Given the description of an element on the screen output the (x, y) to click on. 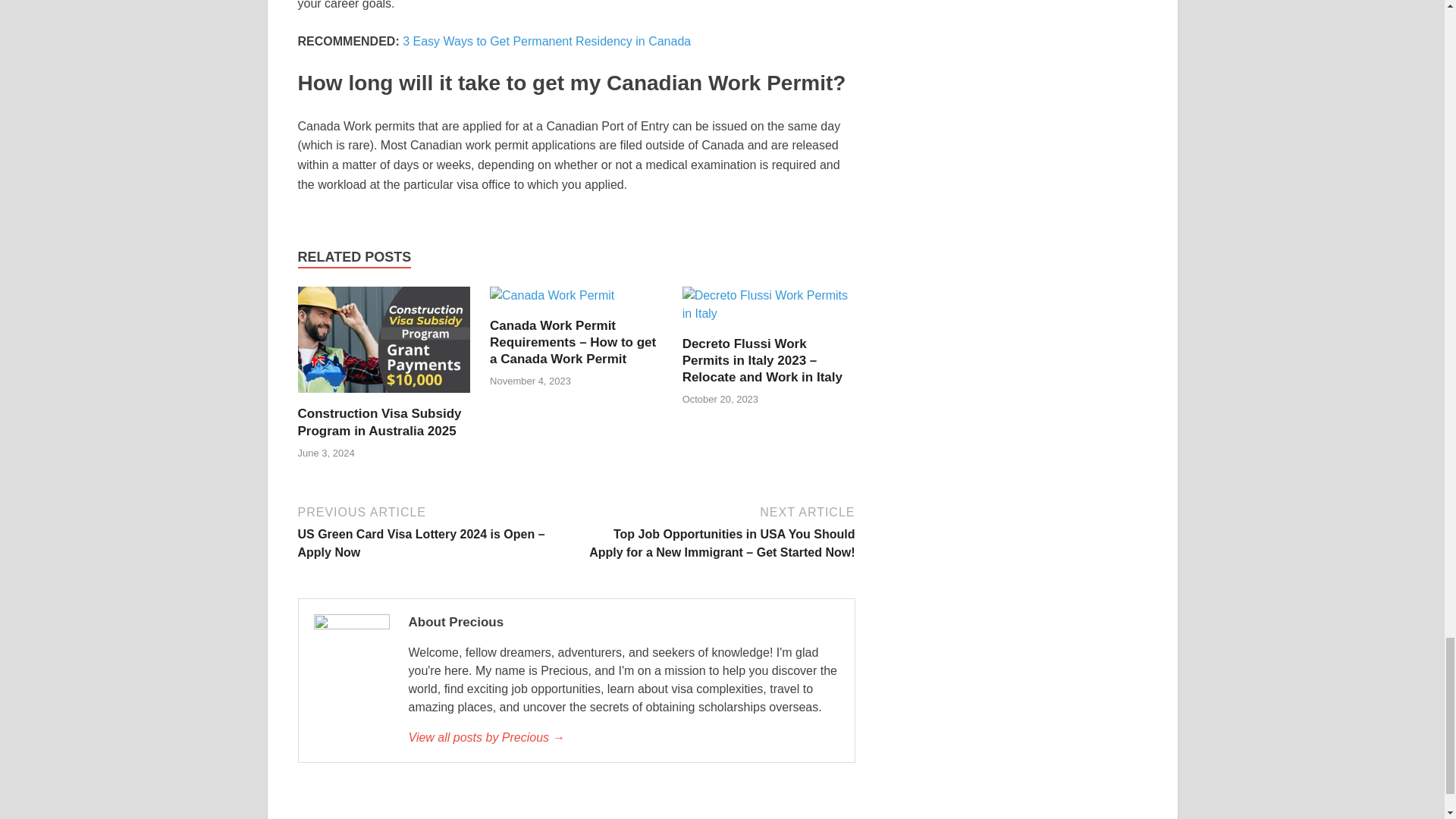
3 Easy Ways to Get Permanent Residency in Canada (546, 41)
Construction Visa Subsidy Program in Australia 2025 (379, 421)
Precious (622, 737)
Construction Visa Subsidy Program in Australia 2025 (383, 345)
Construction Visa Subsidy Program in Australia 2025 (379, 421)
